Given the description of an element on the screen output the (x, y) to click on. 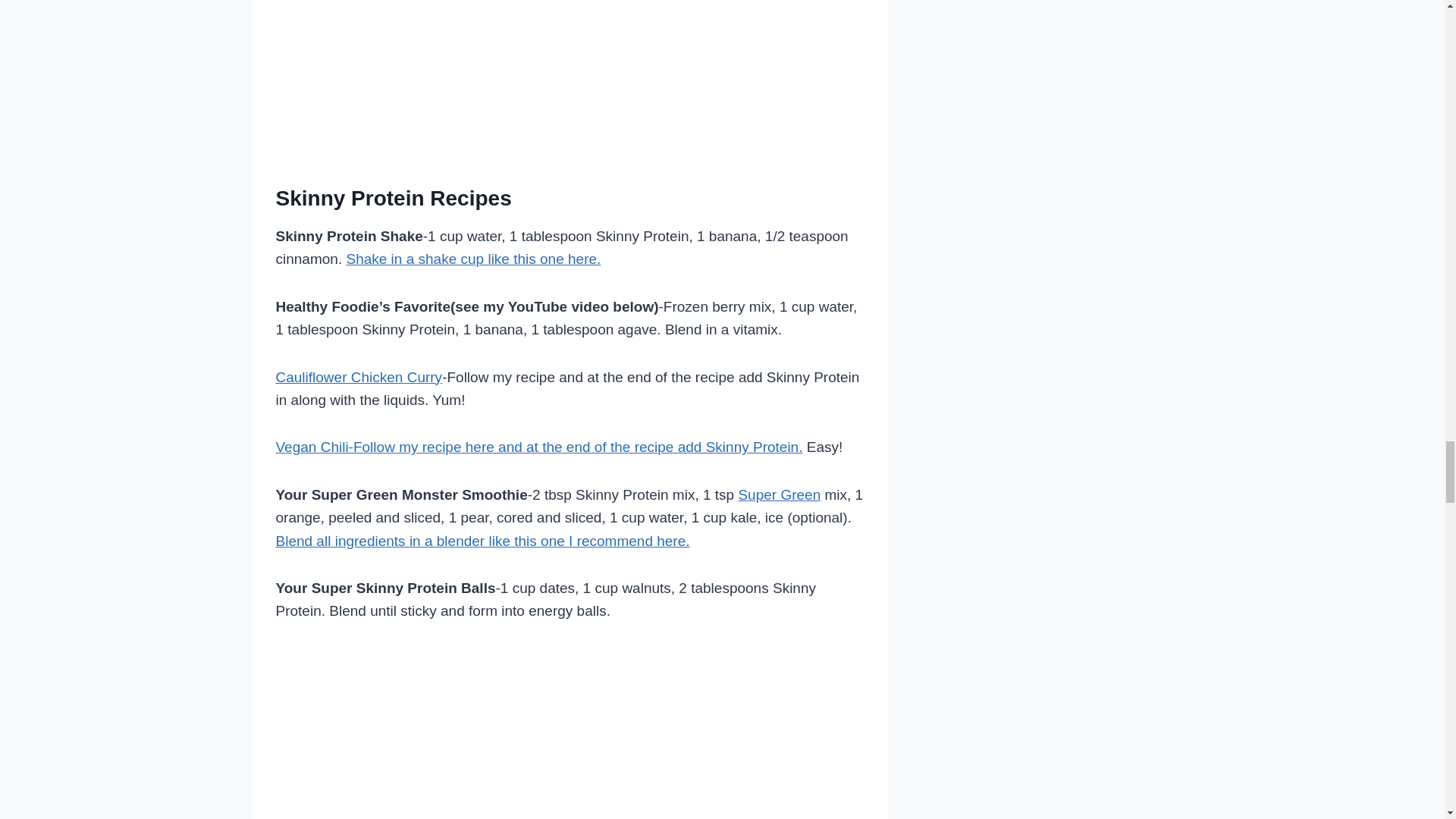
Shake in a shake cup like this one here. (472, 258)
Cauliflower Chicken Curry (359, 376)
Super Green (779, 494)
